Given the description of an element on the screen output the (x, y) to click on. 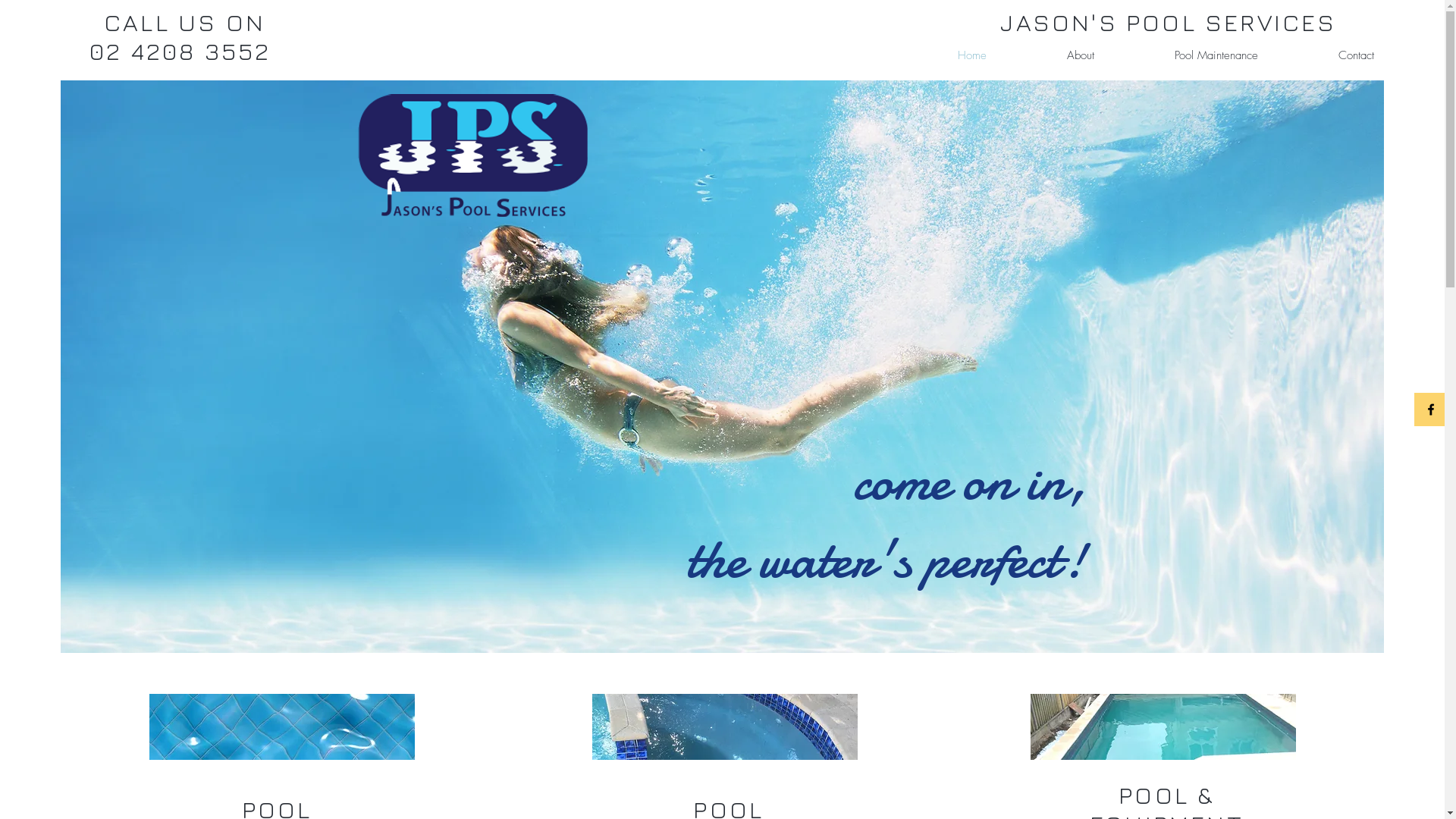
Home Element type: text (942, 55)
About Element type: text (1051, 55)
Pool Maintenance Element type: text (1187, 55)
Contact Element type: text (1327, 55)
